Given the description of an element on the screen output the (x, y) to click on. 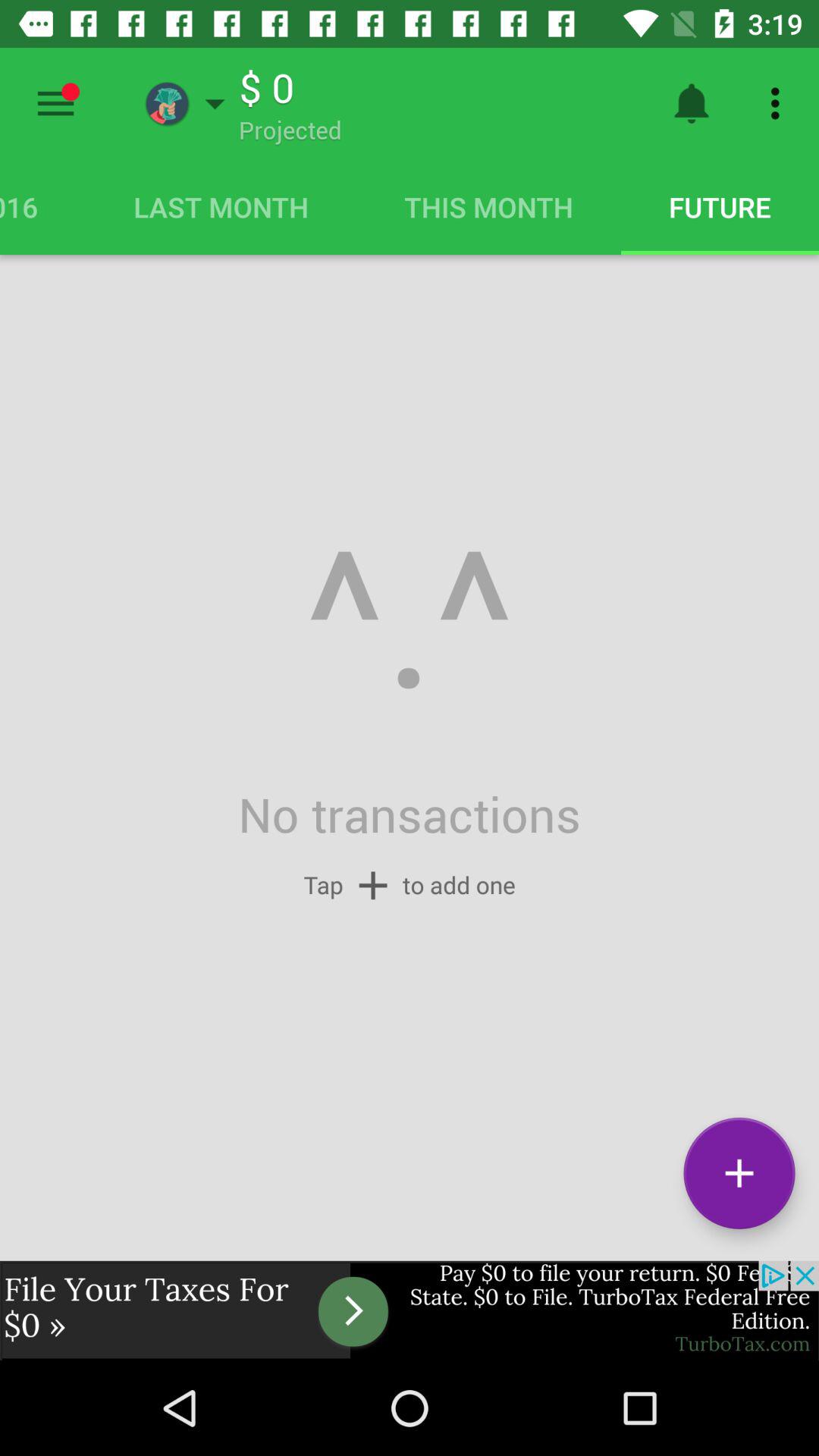
see the menu (55, 103)
